Given the description of an element on the screen output the (x, y) to click on. 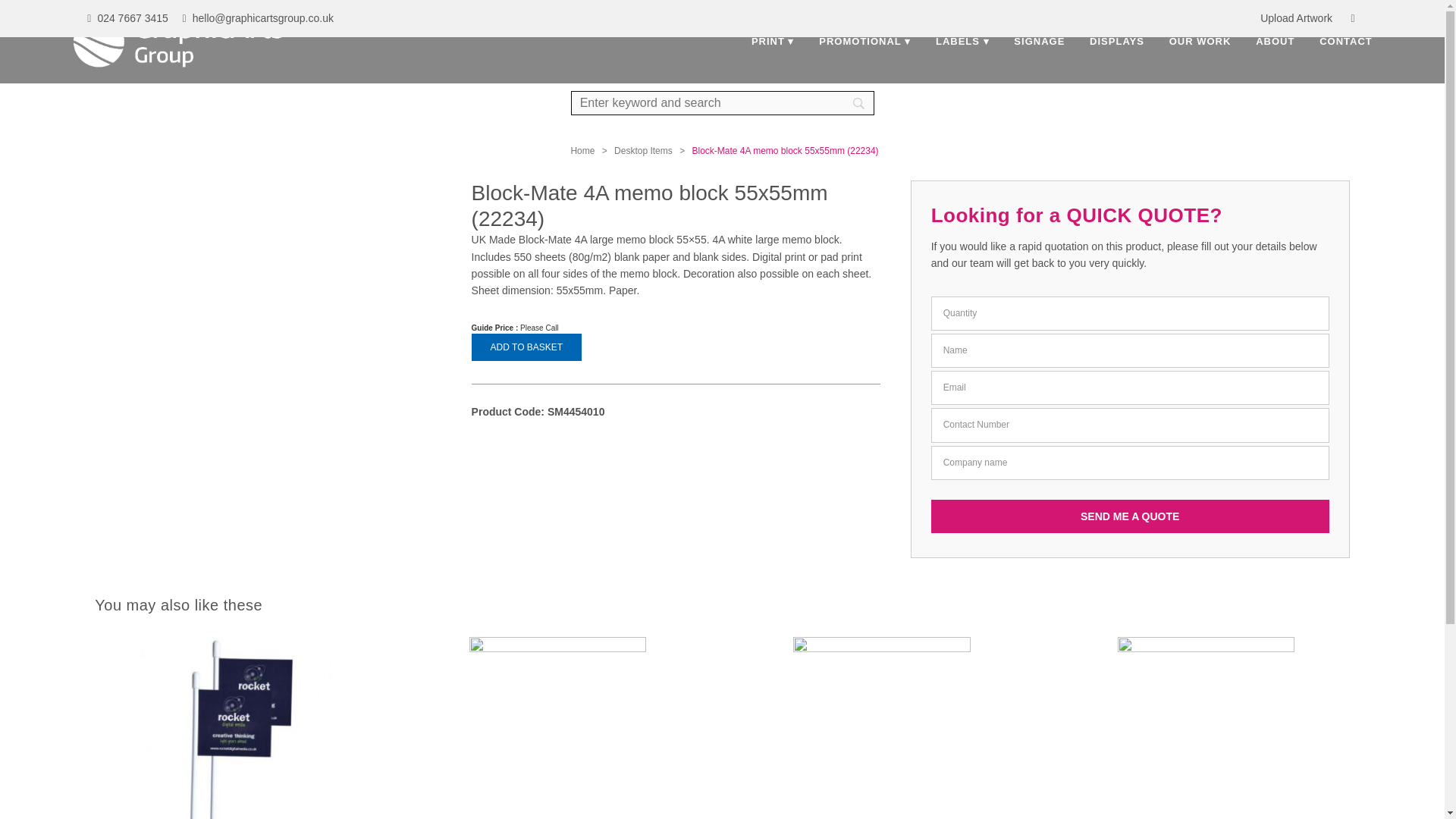
Send me a quote (1130, 516)
Upload Artwork (1293, 19)
024 7667 3415 (129, 19)
Enter keyword and search (721, 102)
